Given the description of an element on the screen output the (x, y) to click on. 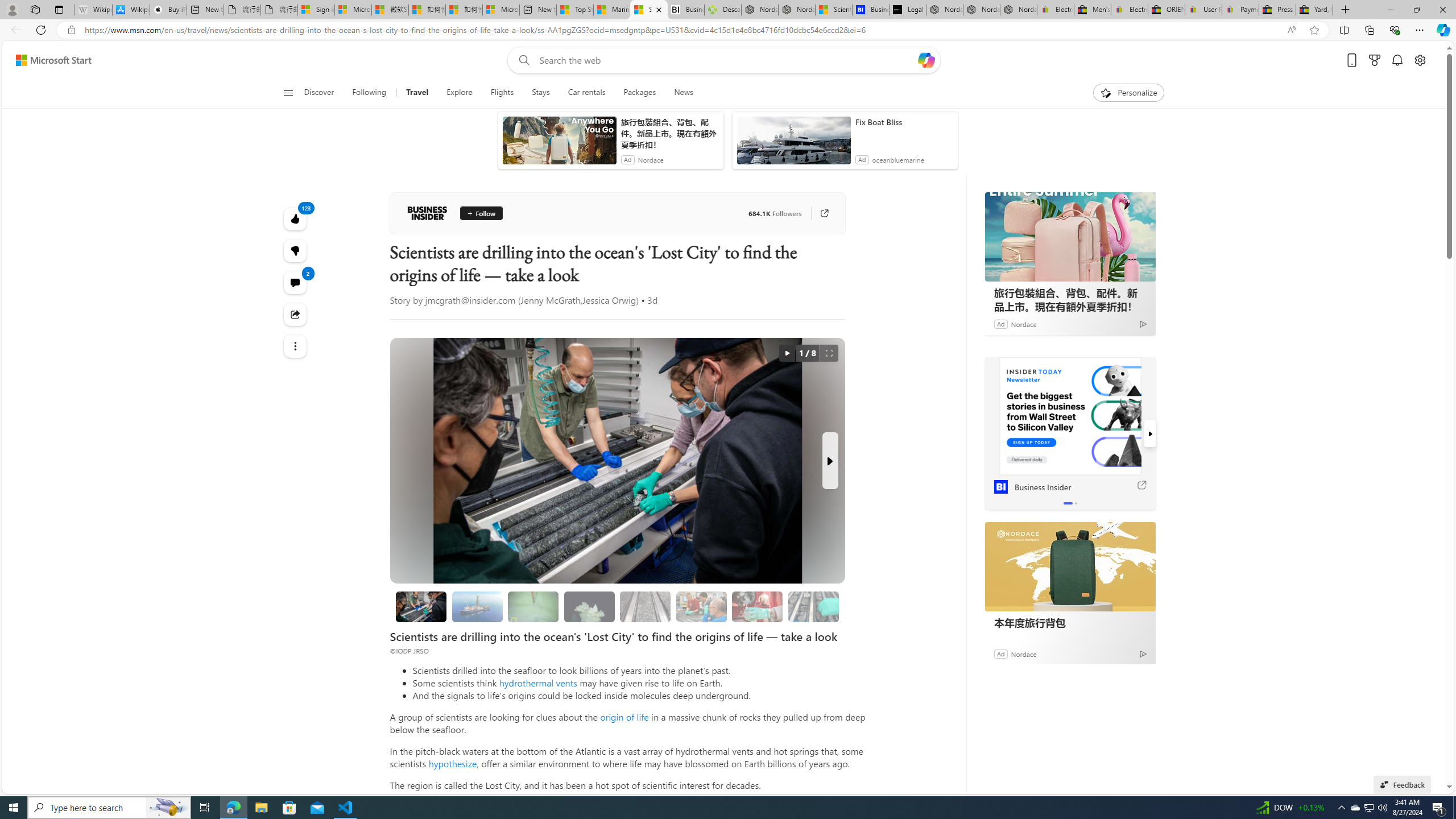
Sign in to your Microsoft account (315, 9)
Class: progress (813, 604)
Researchers are still studying the samples (812, 606)
Share this story (295, 314)
autorotate button (786, 352)
Looking for evidence of oxygen-free life (701, 606)
